Given the description of an element on the screen output the (x, y) to click on. 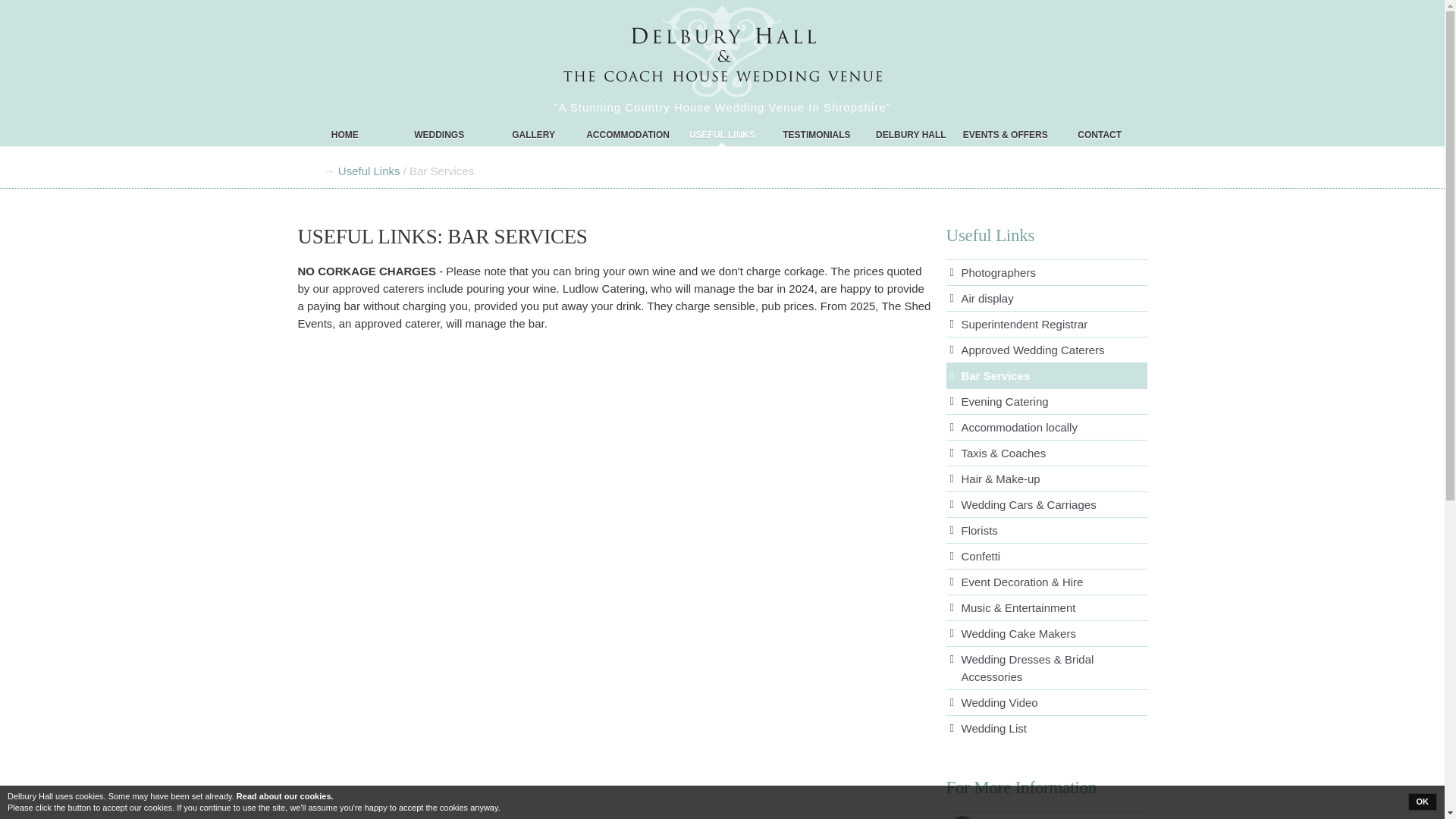
HOME (344, 134)
WEDDINGS (438, 134)
More Information about Delbury Hall (910, 134)
Accommodation (627, 134)
List of Image Galleries (532, 134)
Weddings at Delbury Hall (438, 134)
Delbury Hall (344, 134)
Delbury Hall (722, 56)
USEFUL LINKS (721, 134)
ACCOMMODATION (627, 134)
TESTIMONIALS (816, 134)
Client Testimonials (816, 134)
Contact Delbury Hall (1099, 134)
GALLERY (532, 134)
